Given the description of an element on the screen output the (x, y) to click on. 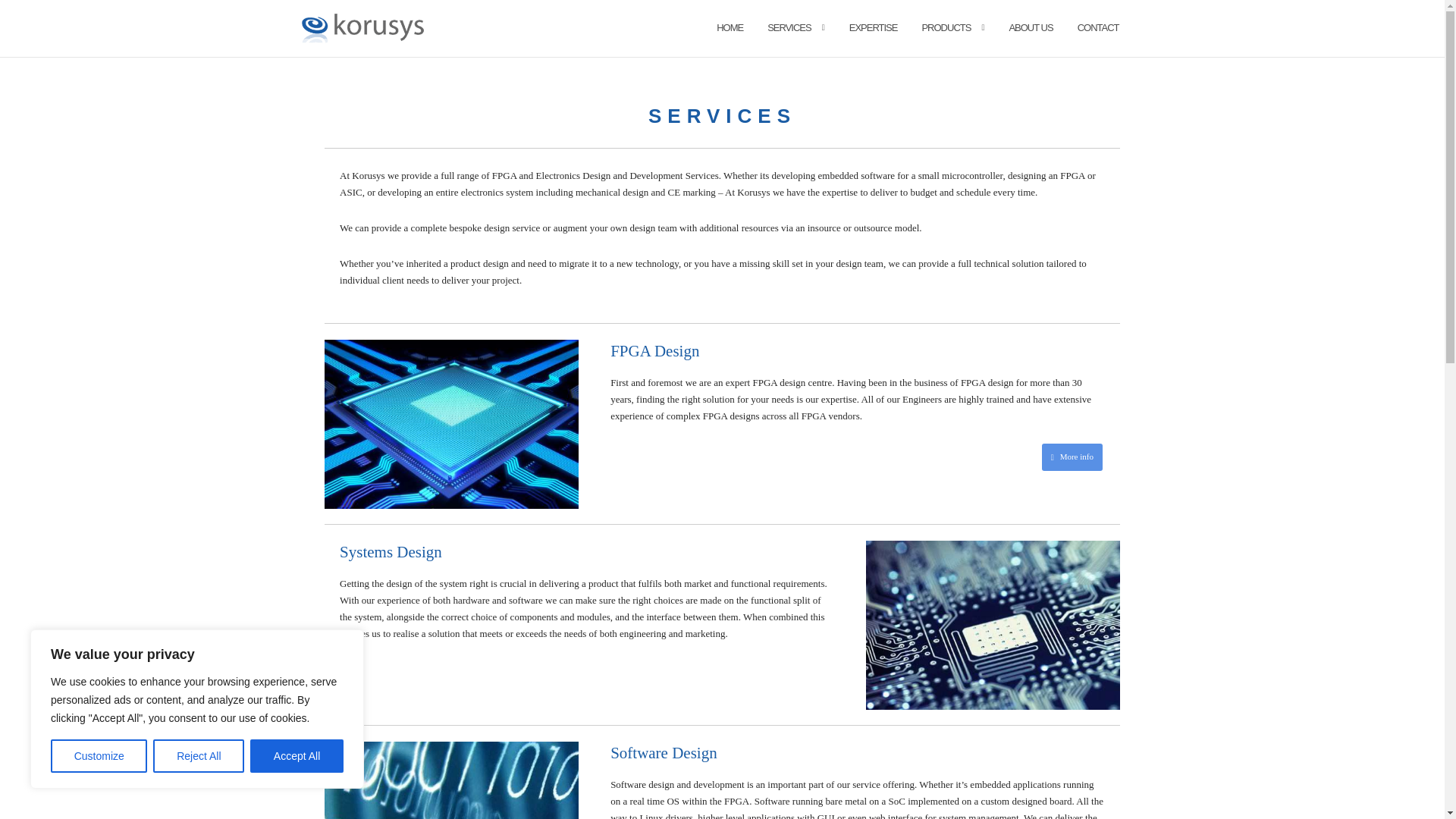
More info (1072, 456)
PRODUCTS (946, 28)
ABOUT US (1030, 28)
EXPERTISE (873, 28)
Customize (98, 756)
CONTACT (1098, 28)
Products (946, 28)
Services (788, 28)
Expertise (873, 28)
Reject All (198, 756)
